Given the description of an element on the screen output the (x, y) to click on. 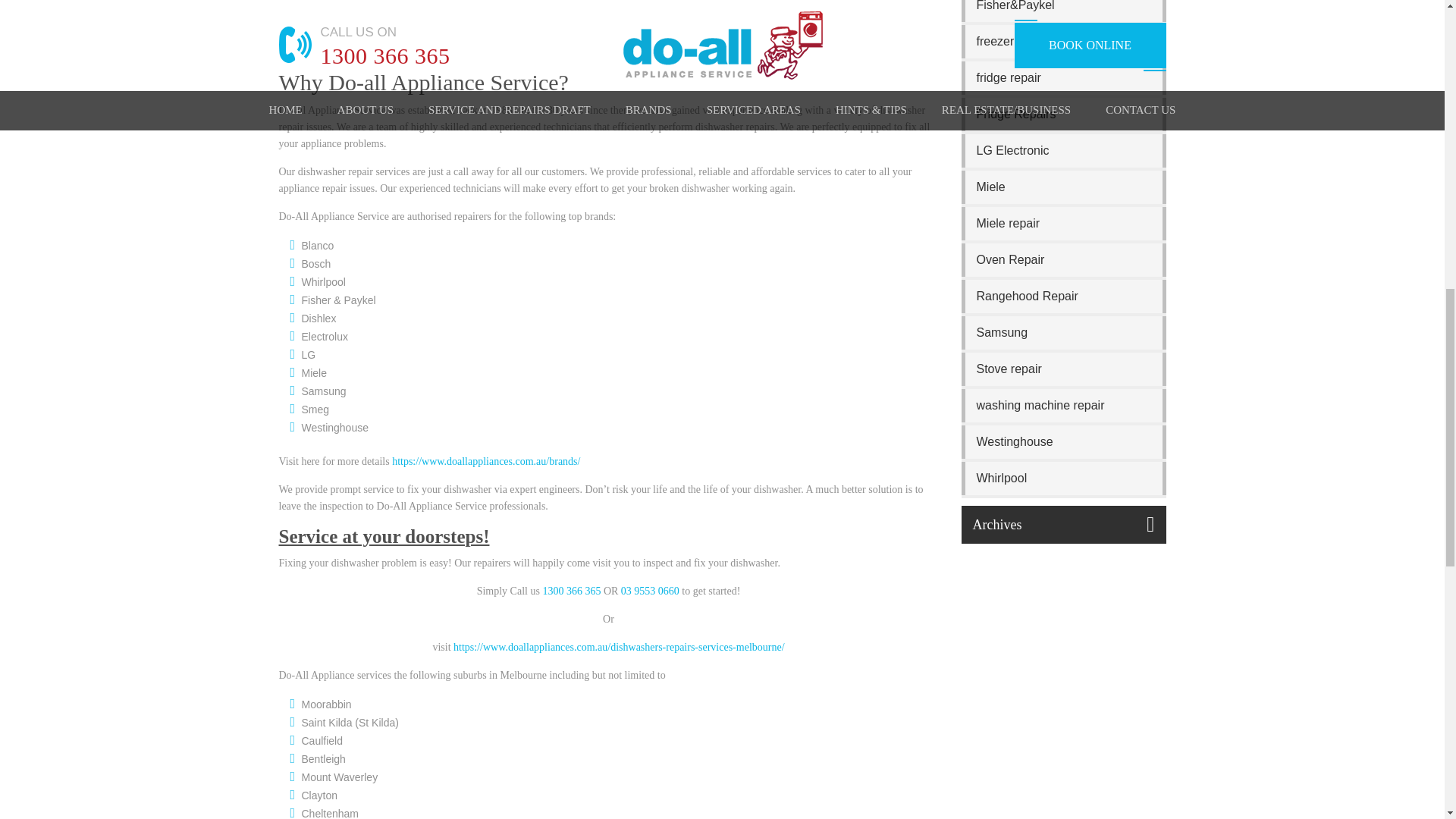
1300 366 365 (570, 591)
03 9553 0660 (650, 591)
